Given the description of an element on the screen output the (x, y) to click on. 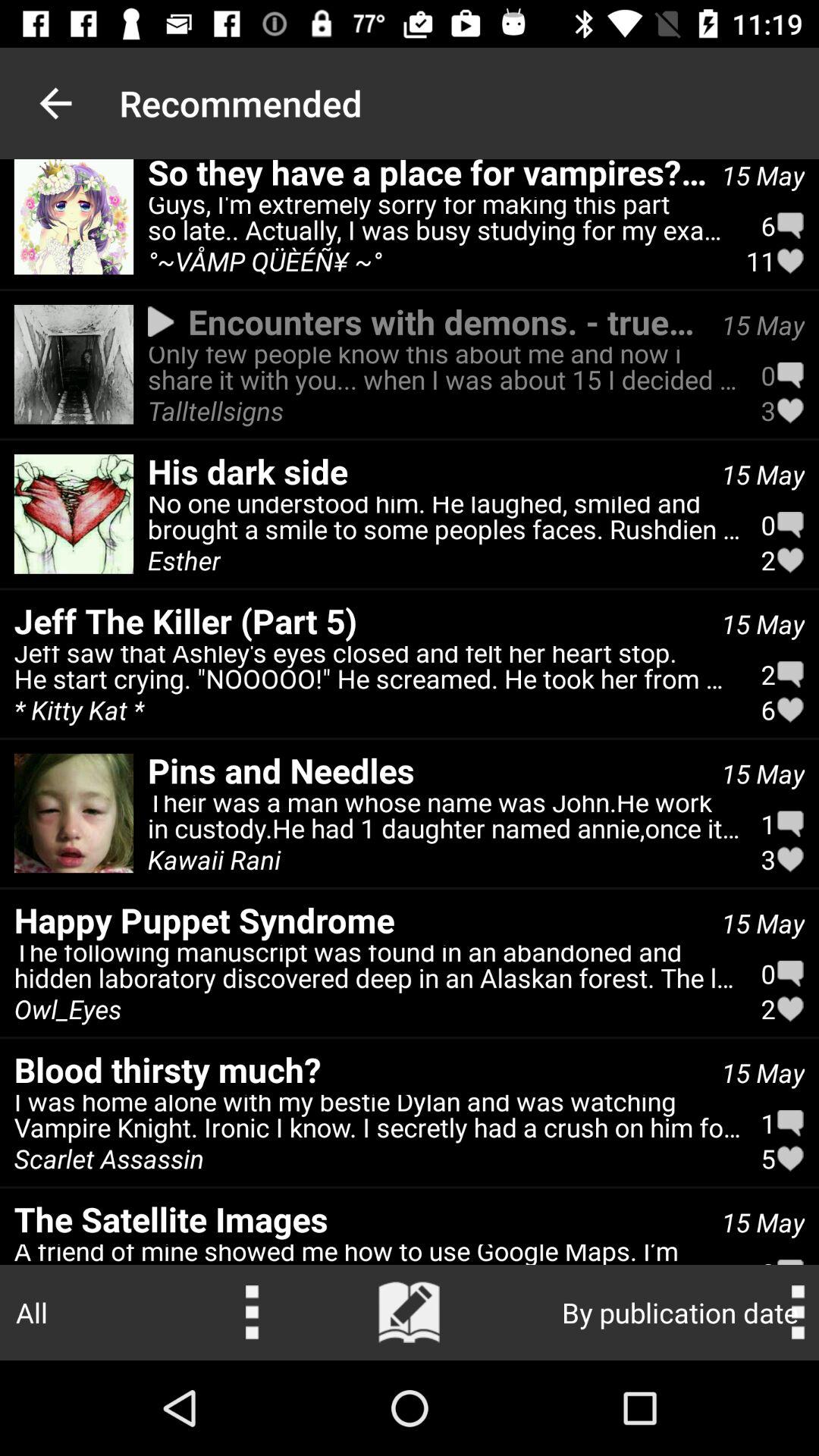
write button (409, 1312)
